Given the description of an element on the screen output the (x, y) to click on. 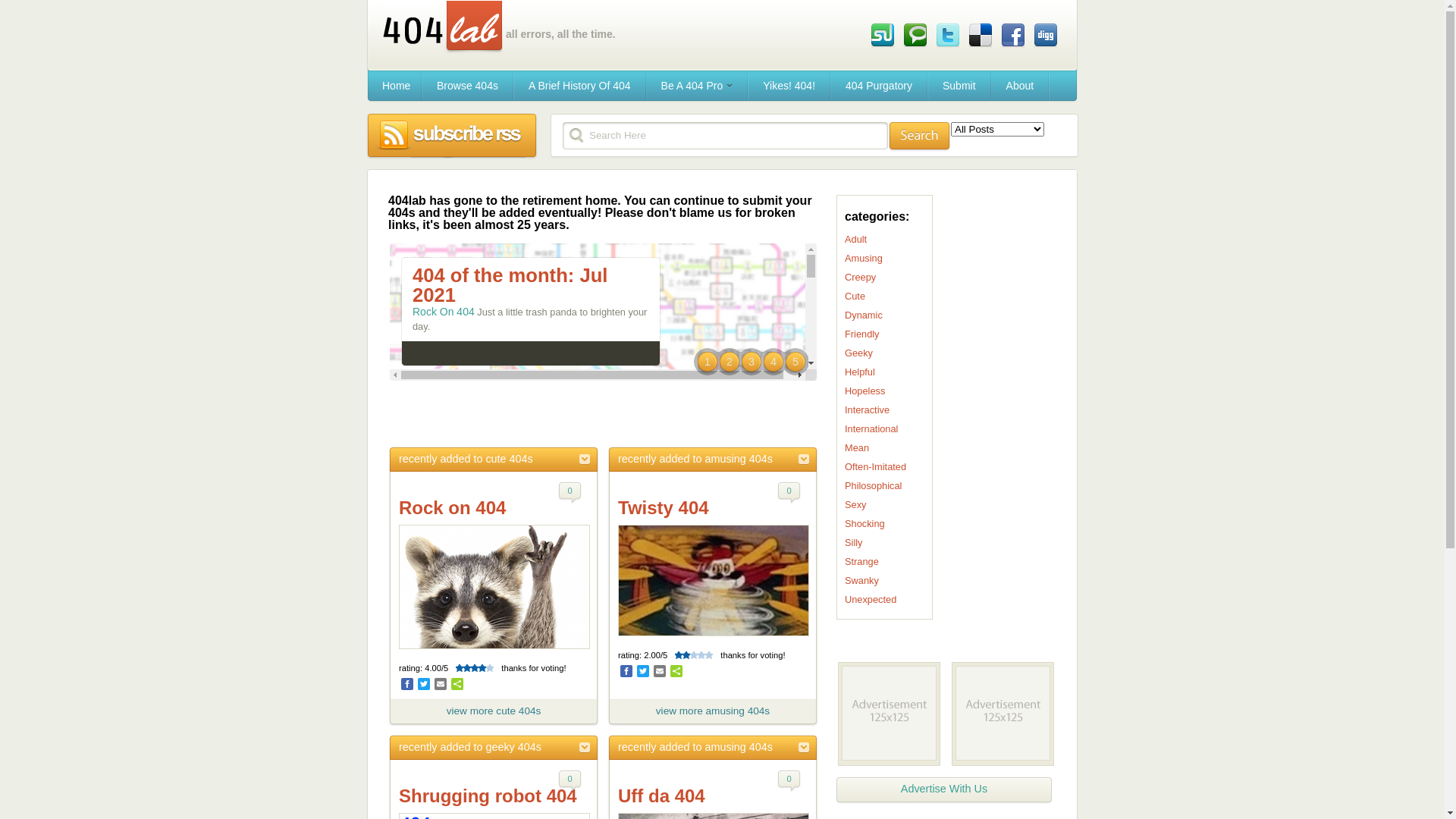
Browse 404s Element type: text (467, 85)
0 Element type: text (569, 781)
Comment and Vote! Element type: text (455, 371)
Friendly Element type: text (861, 333)
Dynamic Element type: text (863, 314)
Unexpected Element type: text (870, 599)
Twisty 404 Element type: text (437, 448)
404 of the month: Jul 2021 Element type: text (509, 284)
view more cute 404s Element type: text (493, 712)
Shrugging robot 404 Element type: text (487, 795)
Philosophical Element type: text (872, 485)
Sexy Element type: text (855, 504)
Yikes! 404! Element type: text (788, 85)
Rock on 404 Element type: text (451, 507)
International Element type: text (870, 428)
Advertisement Element type: hover (986, 421)
5 Element type: text (795, 362)
2 Element type: text (729, 362)
Home Element type: text (394, 86)
Helpful Element type: text (859, 371)
Swanky Element type: text (861, 580)
Twisty 404 Element type: text (663, 507)
view more amusing 404s Element type: text (712, 712)
submit Element type: text (919, 136)
0 Element type: text (788, 493)
Advertisement Element type: hover (602, 413)
Geeky Element type: text (858, 352)
Uff Da 404 Element type: text (437, 586)
Adult Element type: text (855, 238)
Comment and Vote! Element type: text (455, 782)
3 Element type: text (751, 362)
404 of the month for Marc... Element type: text (505, 559)
404 Purgatory Element type: text (878, 85)
A Brief History Of 404 Element type: text (579, 85)
Creepy Element type: text (859, 276)
Amusing Element type: text (863, 257)
About Element type: text (1019, 85)
Comment and Vote! Element type: text (455, 508)
Uff da 404 Element type: text (661, 795)
Hopeless Element type: text (864, 390)
4 Element type: text (773, 362)
Shocking Element type: text (864, 523)
Cute Element type: text (854, 295)
Rock On 404 Element type: text (443, 311)
0 Element type: text (569, 493)
1 Element type: text (707, 362)
Submit Element type: text (959, 85)
404 of the month for 11/2020 Element type: text (505, 696)
Advertise With Us Element type: text (943, 790)
Silly Element type: text (853, 542)
404 of the month: June 2021 Element type: text (518, 421)
Often-Imitated Element type: text (875, 466)
Strange Element type: text (861, 561)
Interactive Element type: text (866, 409)
Hot Dog 404 Element type: text (442, 723)
0 Element type: text (788, 781)
Mean Element type: text (856, 447)
Be A 404 Pro  Element type: text (696, 85)
Comment and Vote! Element type: text (455, 645)
